Given the description of an element on the screen output the (x, y) to click on. 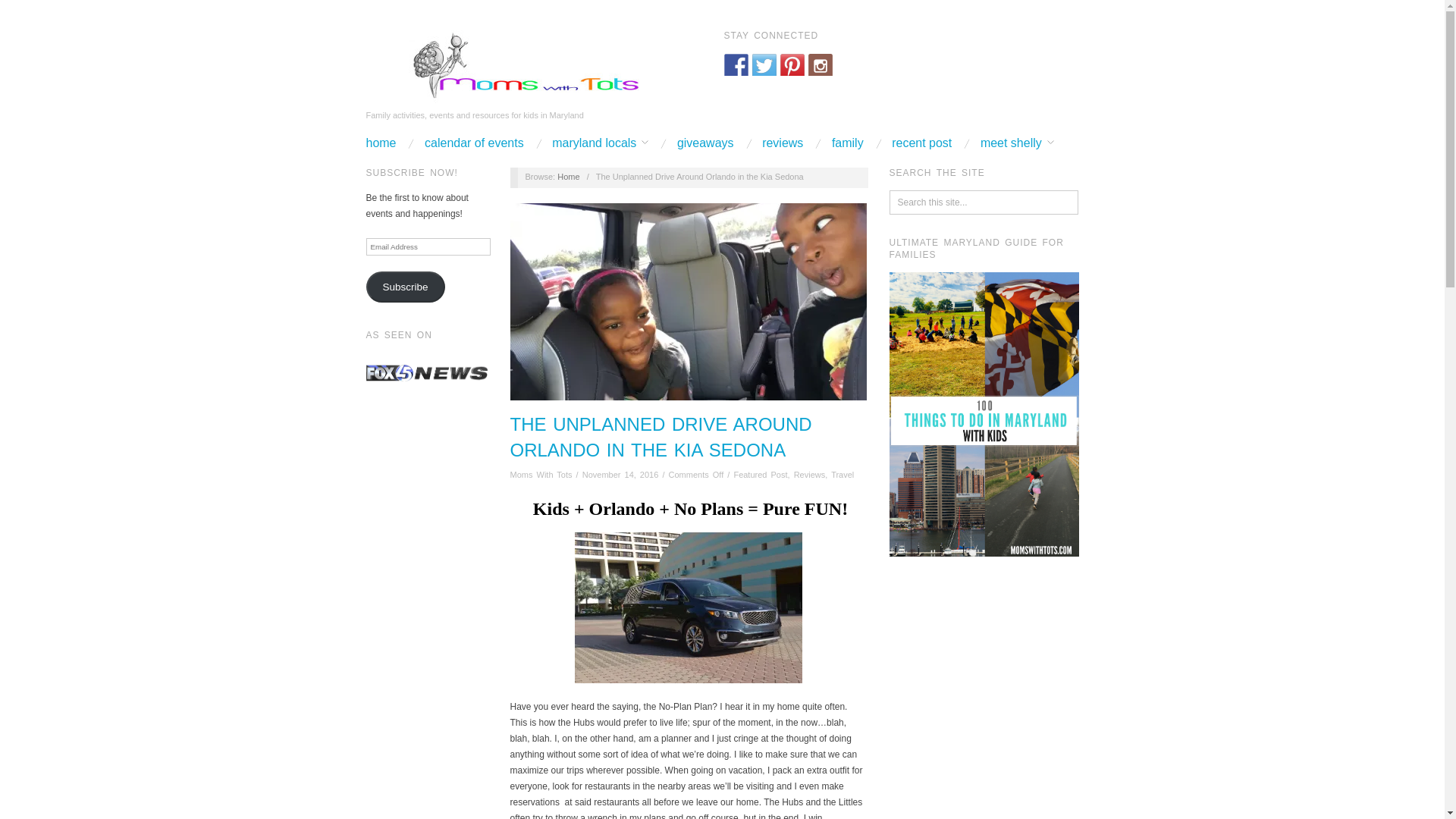
Reviews (809, 474)
Our board on Pinterest (792, 65)
maryland locals (599, 142)
Search this site... (983, 202)
meet shelly (1016, 142)
Maryland Local Info (599, 142)
Moms With Tots (541, 474)
home (380, 142)
Moms with Tots Home Page (380, 142)
Moms With Tots (516, 65)
